Given the description of an element on the screen output the (x, y) to click on. 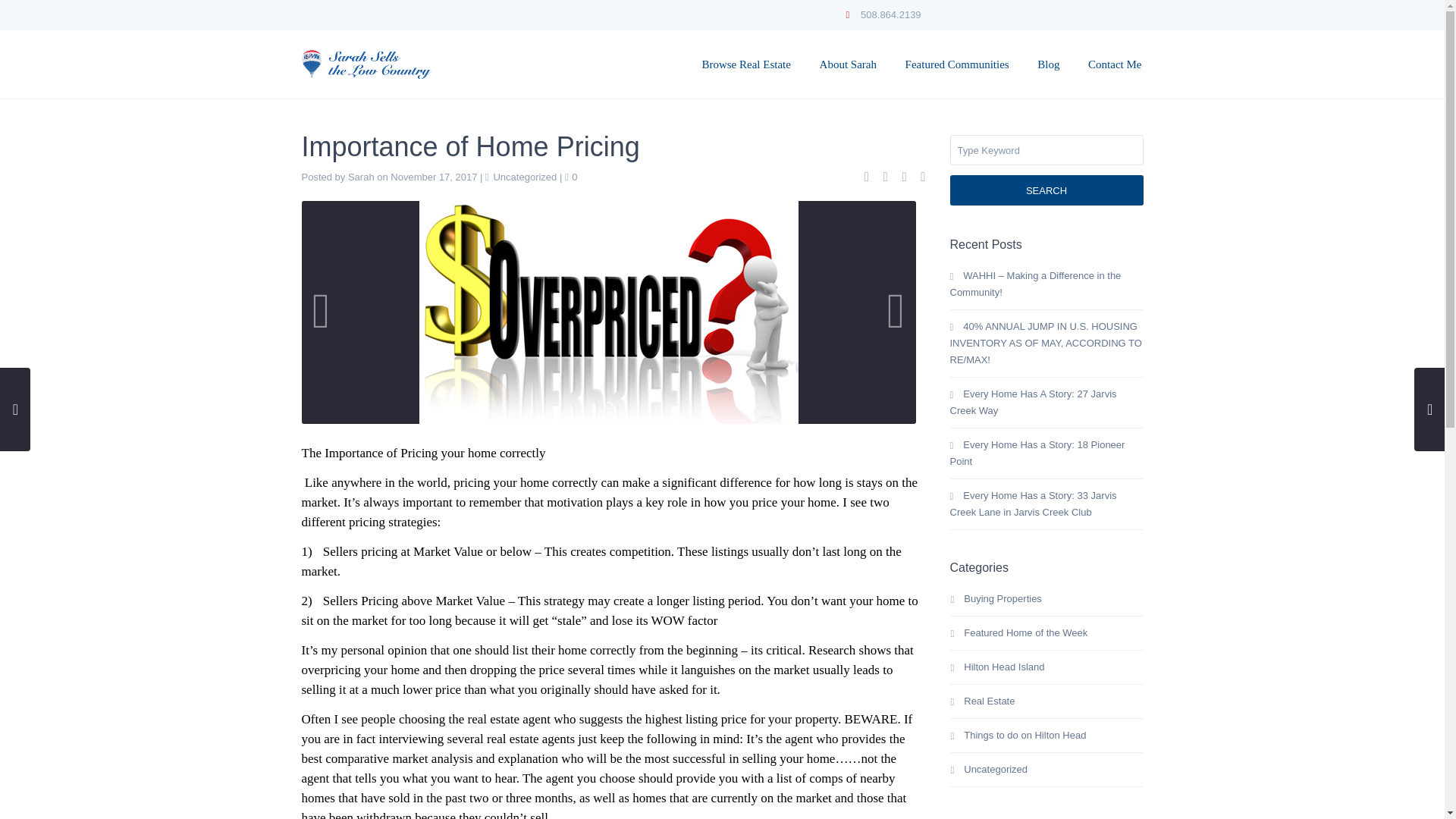
Featured Communities (957, 64)
About Sarah (847, 64)
Contact Me (1114, 64)
Uncategorized (524, 176)
Browse Real Estate (745, 64)
